Given the description of an element on the screen output the (x, y) to click on. 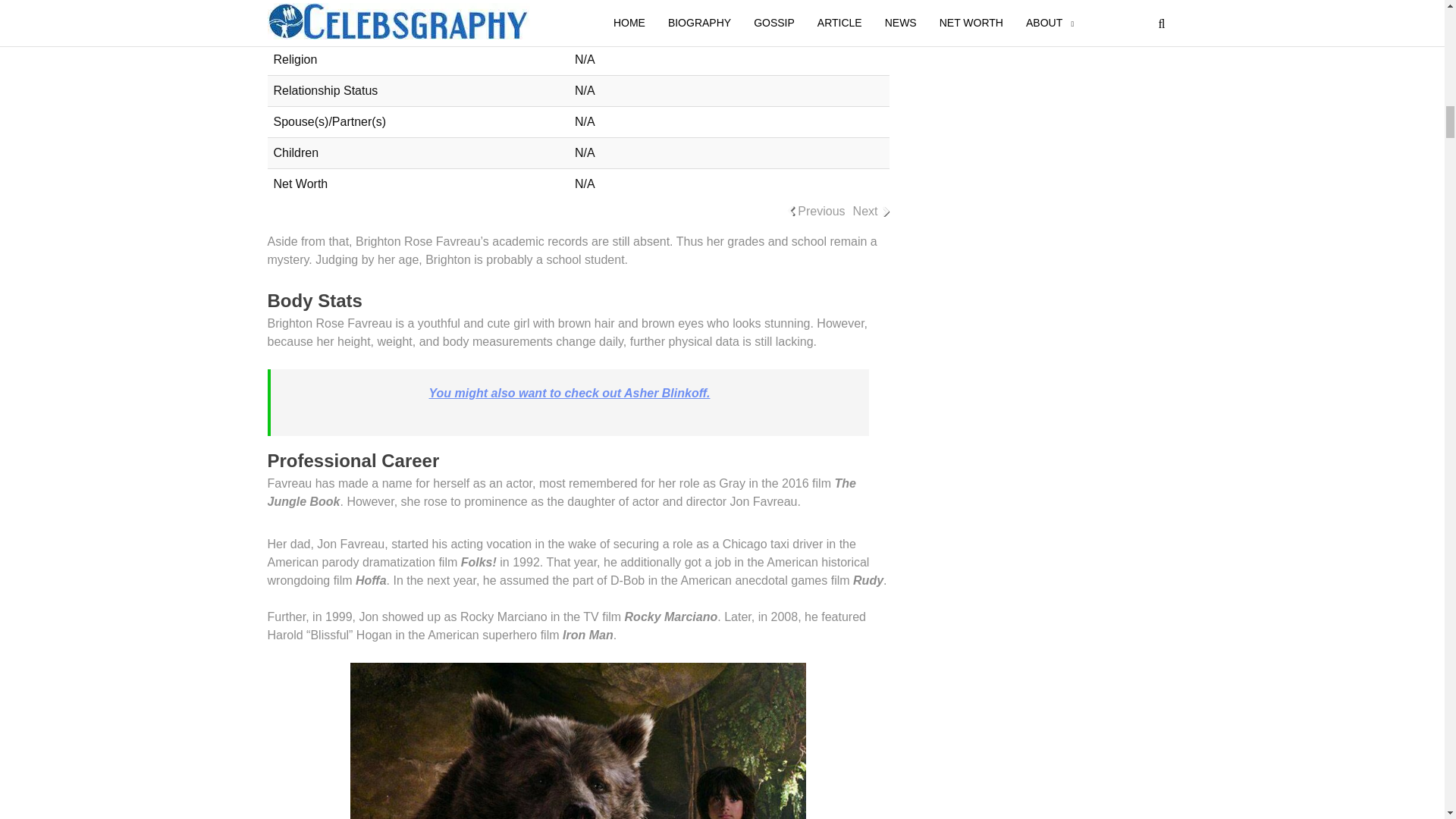
You might also want to check out Asher Blinkoff. (569, 392)
Previous (820, 210)
Next (865, 210)
